Given the description of an element on the screen output the (x, y) to click on. 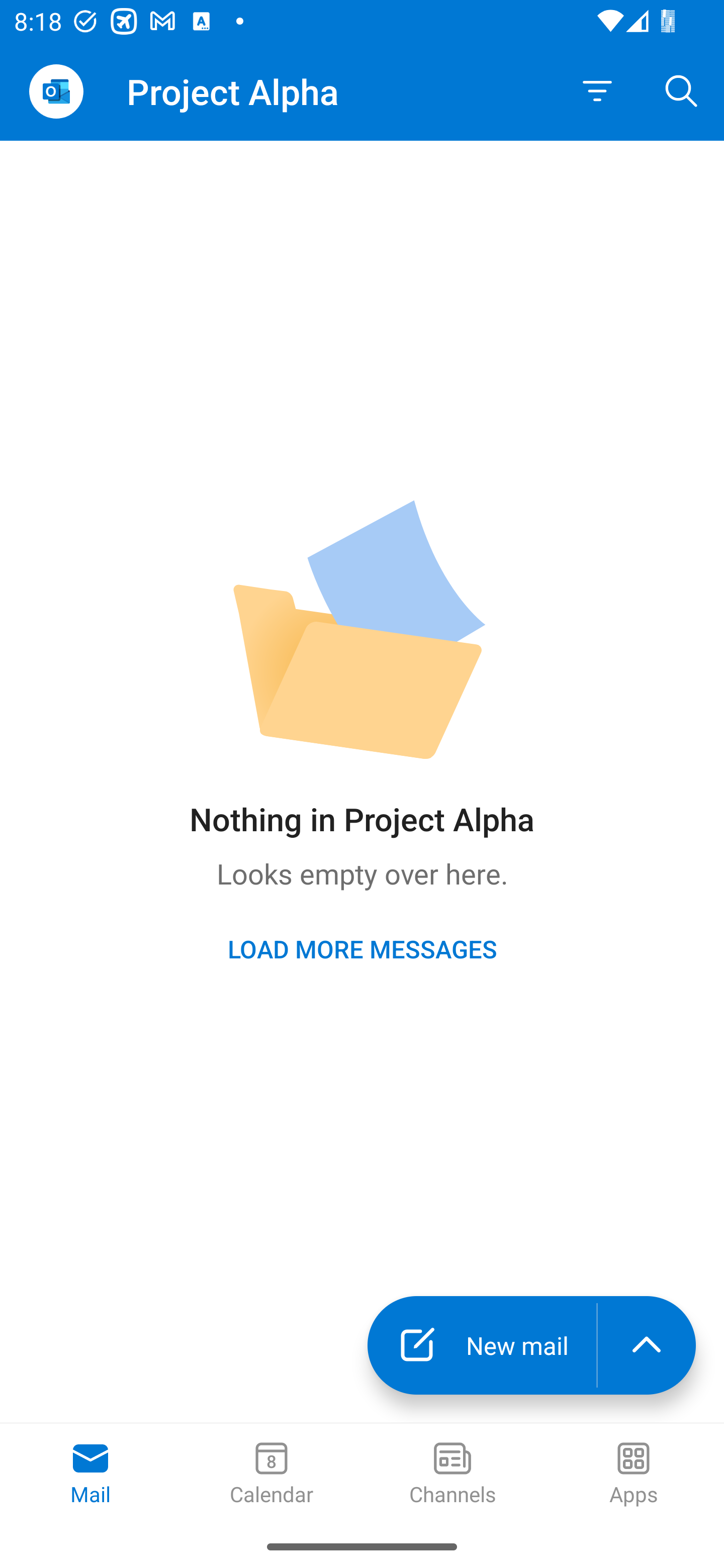
Search, ,  (681, 90)
Open Navigation Drawer (55, 91)
Filter (597, 91)
LOAD MORE MESSAGES (361, 948)
New mail (481, 1344)
launch the extended action menu (646, 1344)
Calendar (271, 1474)
Channels (452, 1474)
Apps (633, 1474)
